Given the description of an element on the screen output the (x, y) to click on. 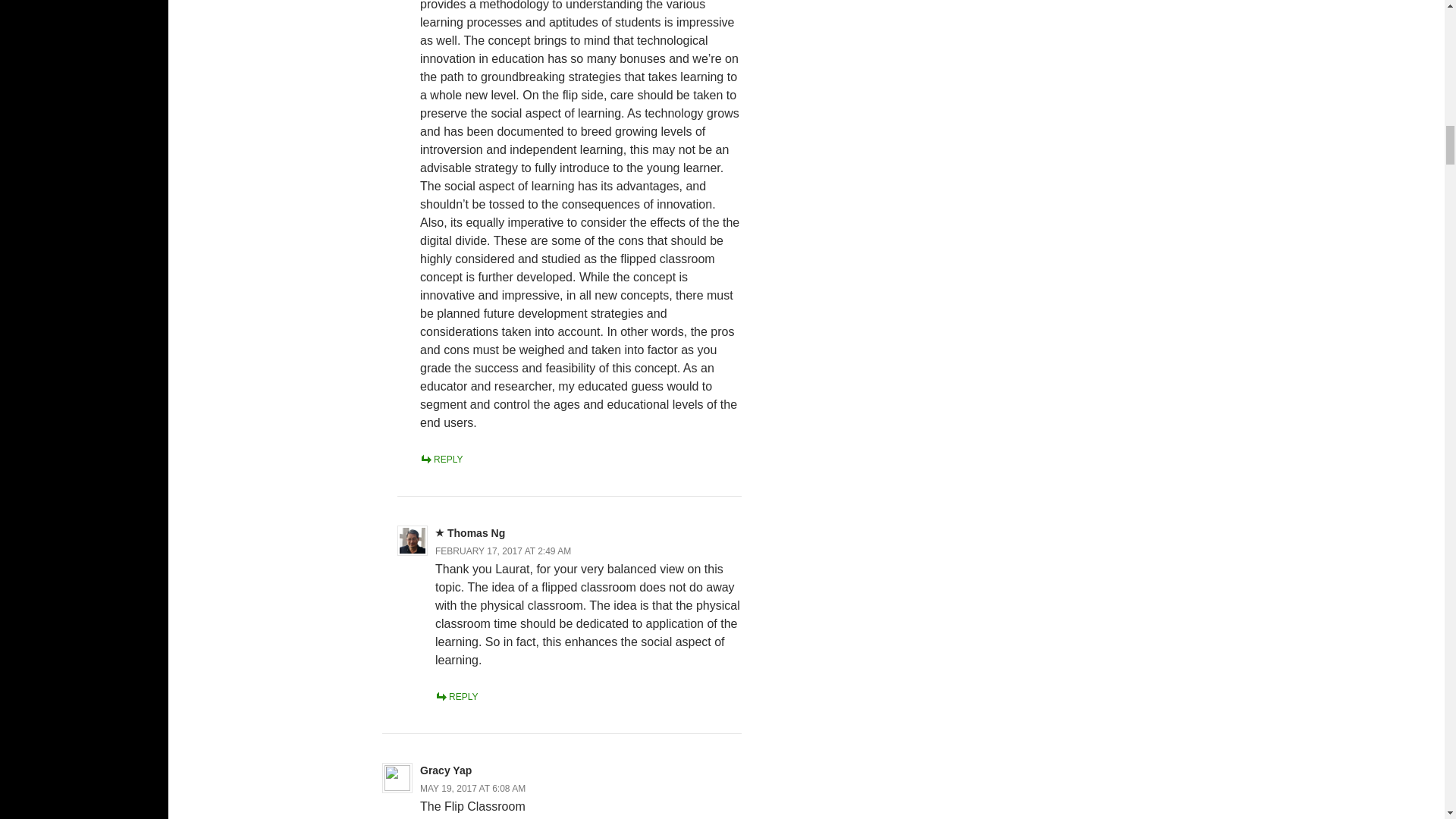
FEBRUARY 17, 2017 AT 2:49 AM (502, 551)
REPLY (456, 696)
REPLY (441, 459)
MAY 19, 2017 AT 6:08 AM (472, 787)
Gracy Yap (445, 770)
Thomas Ng (475, 532)
